Given the description of an element on the screen output the (x, y) to click on. 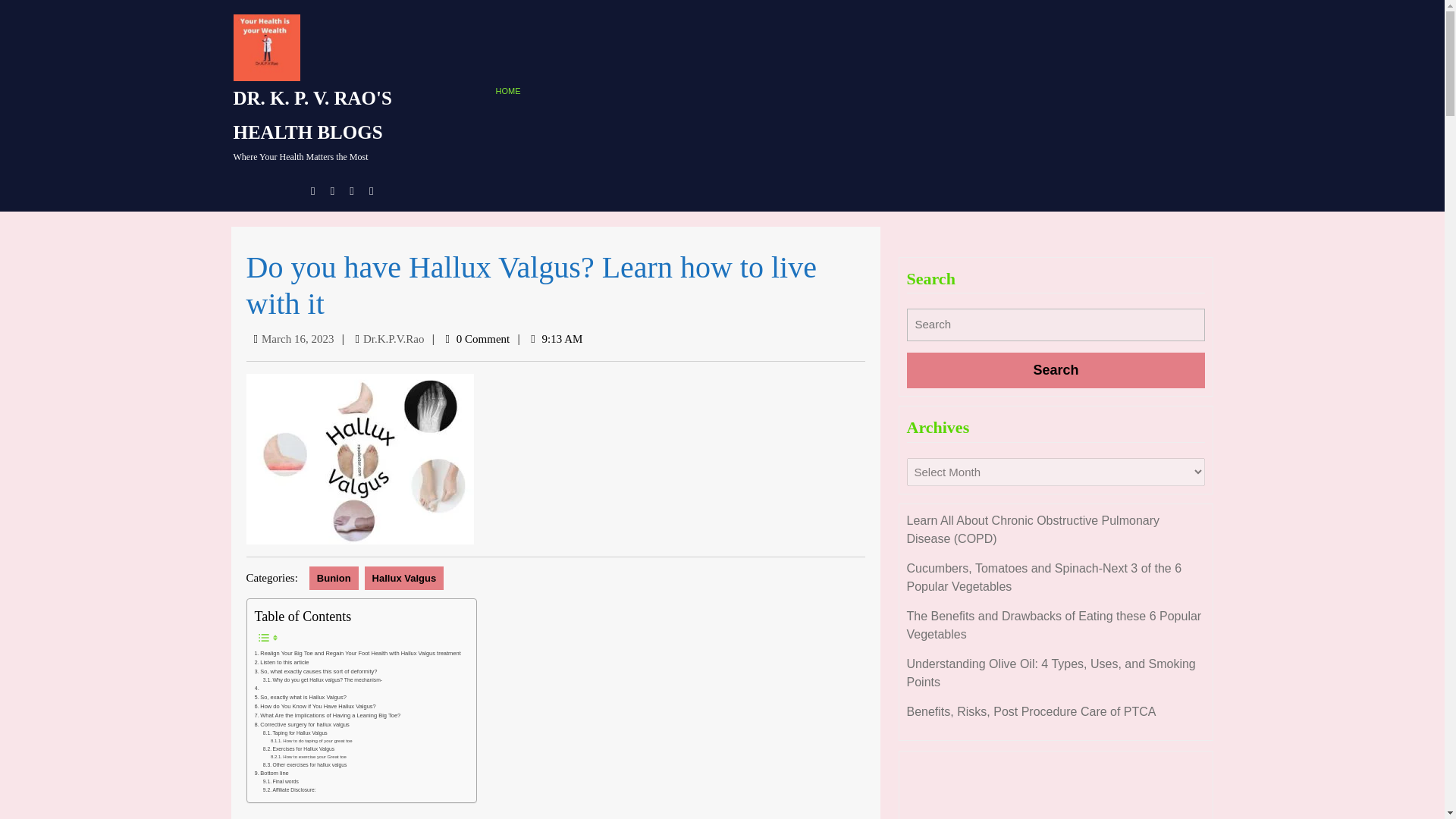
HOME (510, 90)
Hallux Valgus (404, 577)
Search (1056, 370)
Why do you get Hallux valgus? The mechanism- (322, 680)
Bunion (333, 577)
Taping for Hallux Valgus (295, 733)
How to do taping of your great toe (311, 741)
Corrective surgery for hallux valgus (301, 724)
March 16, 2023 (297, 338)
DR. K. P. V. RAO'S HEALTH BLOGS (311, 114)
So, exactly what is Hallux Valgus? (300, 696)
Listen to this article (281, 662)
How do You Know if You Have Hallux Valgus? (314, 706)
Do you have Hallux Valgus? Learn how to live with it 1 (359, 458)
